Given the description of an element on the screen output the (x, y) to click on. 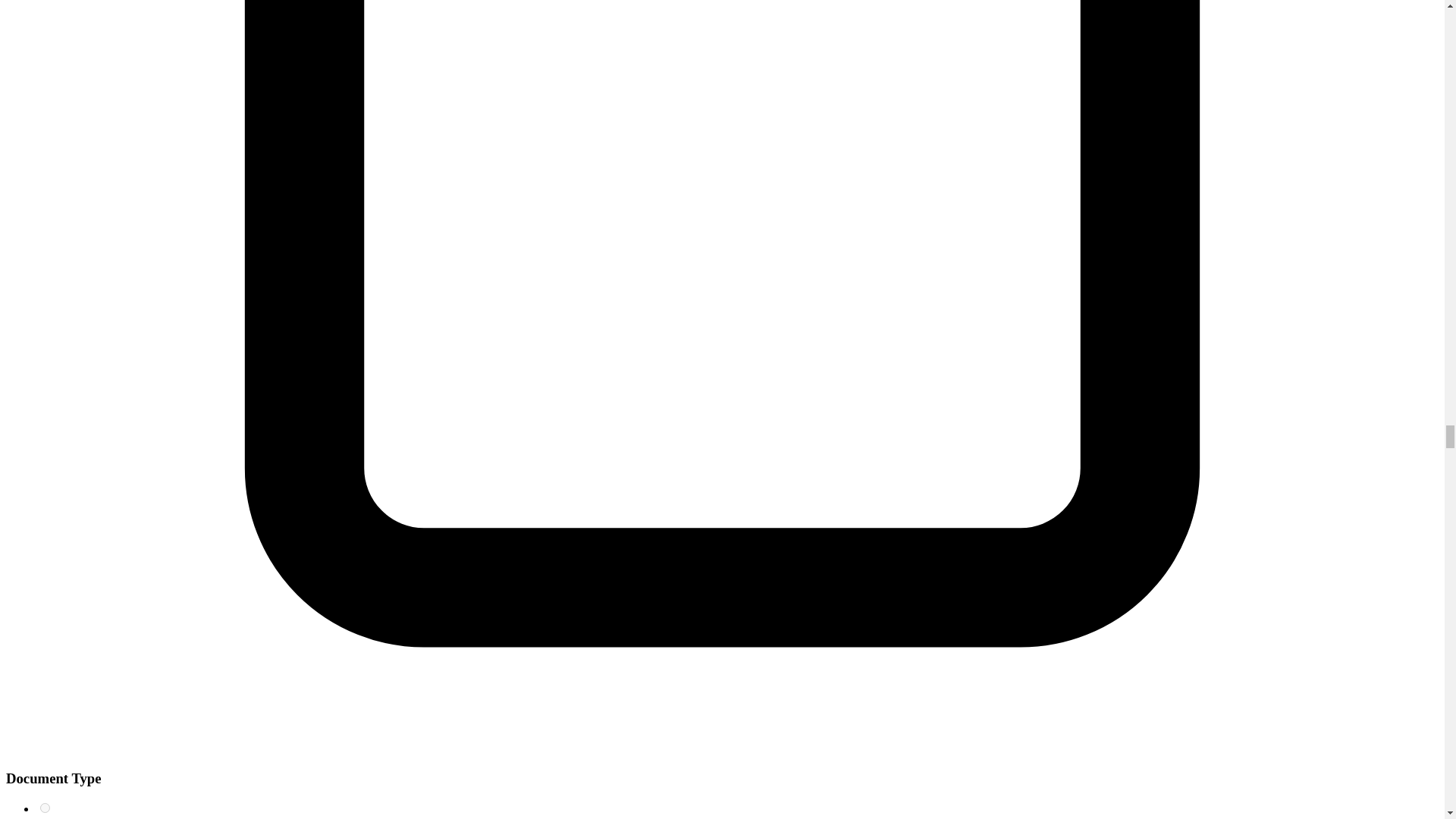
3 (44, 808)
